Given the description of an element on the screen output the (x, y) to click on. 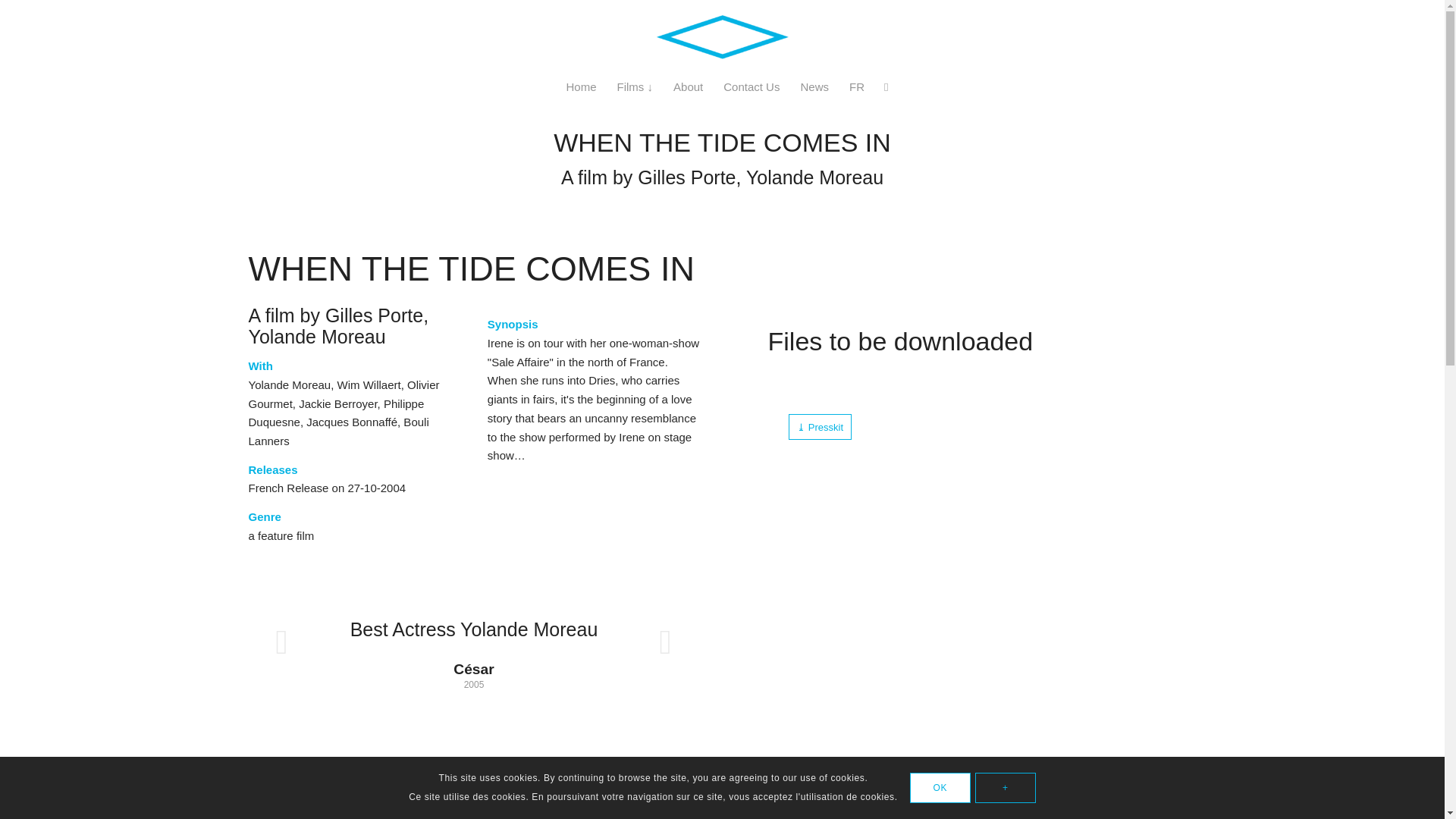
Suivant (665, 641)
FR (856, 86)
OK (940, 788)
Home (581, 86)
About (687, 86)
News (813, 86)
Contact Us (751, 86)
